Given the description of an element on the screen output the (x, y) to click on. 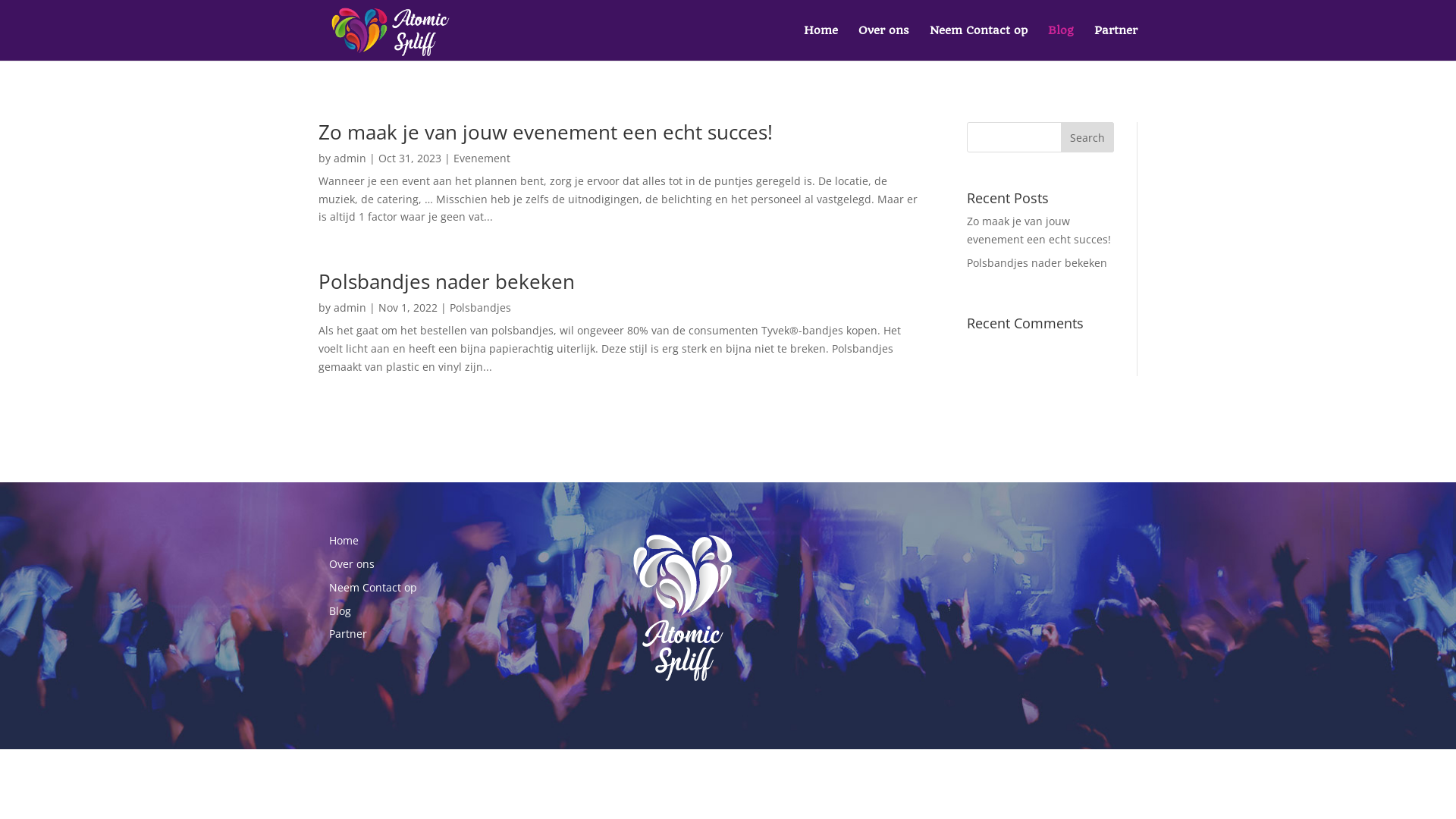
Home Element type: text (820, 42)
Blog Element type: text (340, 610)
admin Element type: text (349, 307)
Over ons Element type: text (351, 563)
Polsbandjes nader bekeken Element type: text (1036, 262)
Over ons Element type: text (883, 42)
Partner Element type: text (1115, 42)
Evenement Element type: text (481, 157)
Partner Element type: text (348, 633)
Blog Element type: text (1060, 42)
Home Element type: text (343, 540)
admin Element type: text (349, 157)
Zo maak je van jouw evenement een echt succes! Element type: text (545, 131)
Polsbandjes Element type: text (480, 307)
Zo maak je van jouw evenement een echt succes! Element type: text (1038, 229)
Search Element type: text (1086, 137)
Neem Contact op Element type: text (978, 42)
Neem Contact op Element type: text (373, 587)
Polsbandjes nader bekeken Element type: text (446, 280)
